Given the description of an element on the screen output the (x, y) to click on. 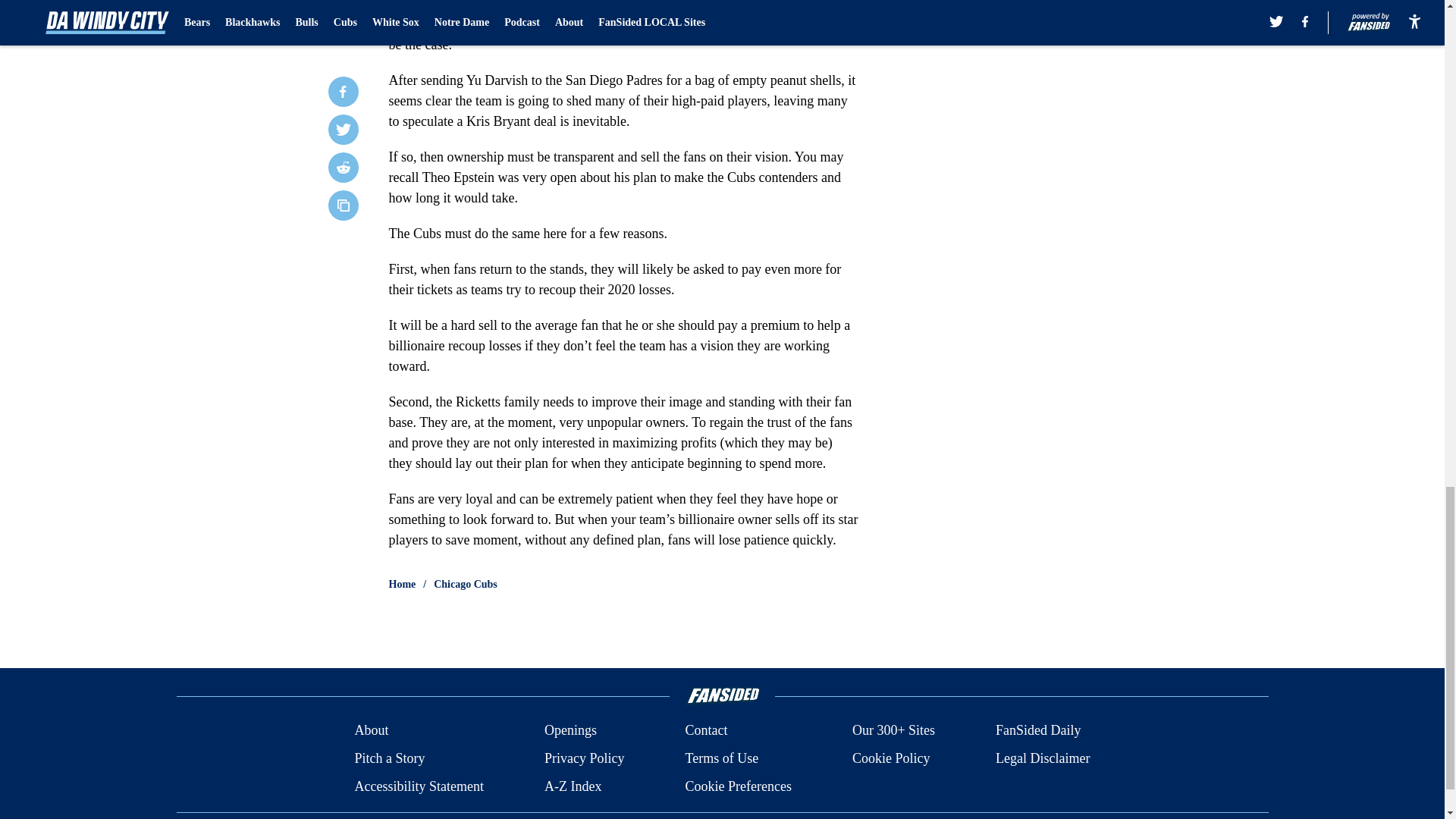
FanSided Daily (1038, 730)
Contact (705, 730)
Openings (570, 730)
Chicago Cubs (465, 584)
Privacy Policy (584, 758)
Accessibility Statement (418, 786)
Cookie Policy (890, 758)
Legal Disclaimer (1042, 758)
Cookie Preferences (737, 786)
A-Z Index (572, 786)
